Given the description of an element on the screen output the (x, y) to click on. 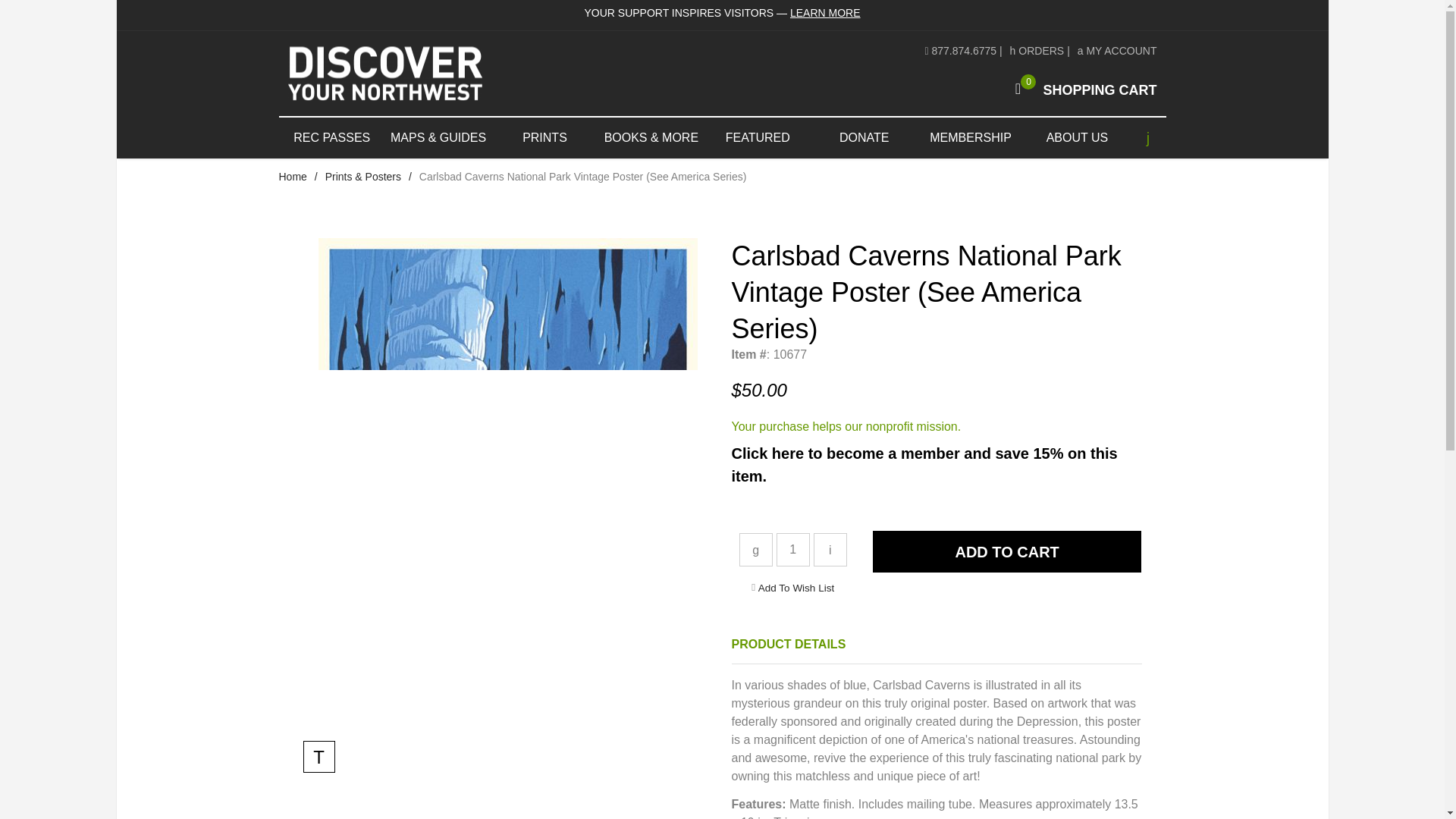
FEATURED (757, 137)
ABOUT US (1076, 137)
Your purchase helps our nonprofit mission. (845, 426)
ORDERS (1037, 50)
Add To Wish List (1081, 89)
Add to Cart (796, 588)
MY ACCOUNT (1006, 551)
DONATE (1117, 50)
Add to Cart (863, 137)
